Given the description of an element on the screen output the (x, y) to click on. 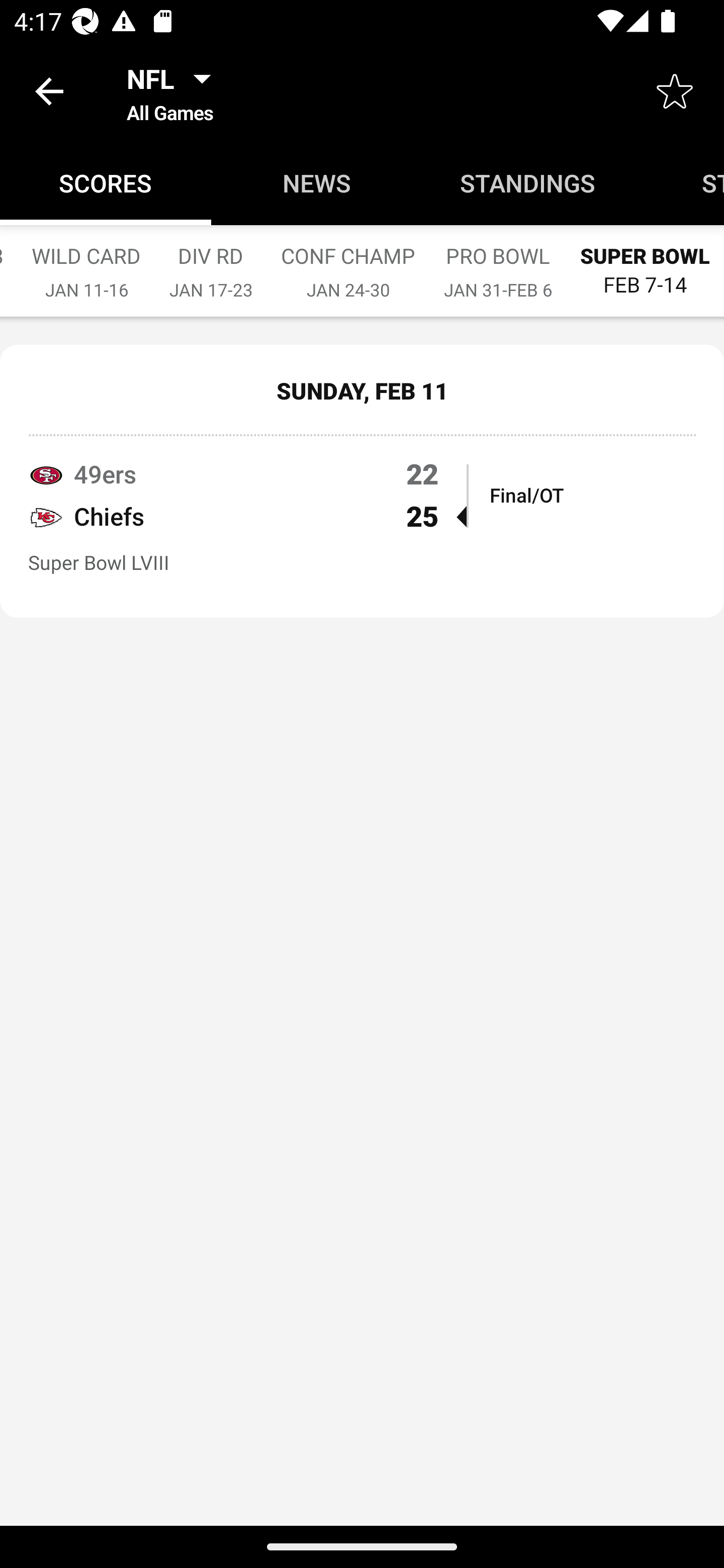
NFL All Games (174, 90)
Favorite toggle (674, 90)
News NEWS (316, 183)
Standings STANDINGS (527, 183)
WILD CARD JAN 11-16 (85, 262)
DIV RD JAN 17-23 (210, 262)
CONF CHAMP JAN 24-30 (347, 262)
PRO BOWL JAN 31-FEB 6 (497, 262)
SUPER BOWL FEB 7-14 (645, 261)
SUNDAY, FEB 11 (362, 389)
49ers 22 Chiefs 25  Final/OT Super Bowl LVIII (362, 524)
